Given the description of an element on the screen output the (x, y) to click on. 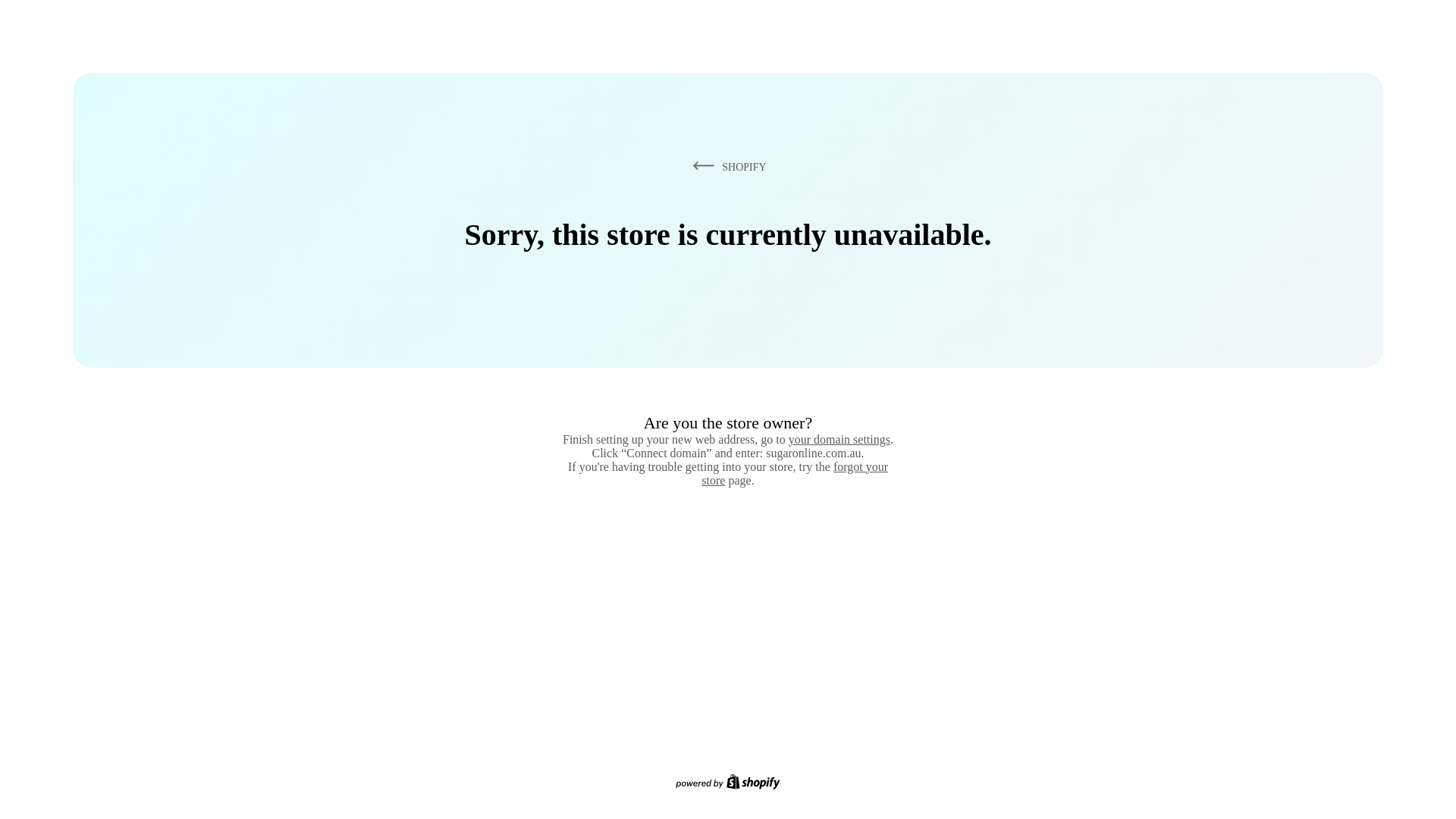
your domain settings (839, 439)
SHOPIFY (726, 166)
forgot your store (794, 473)
